Given the description of an element on the screen output the (x, y) to click on. 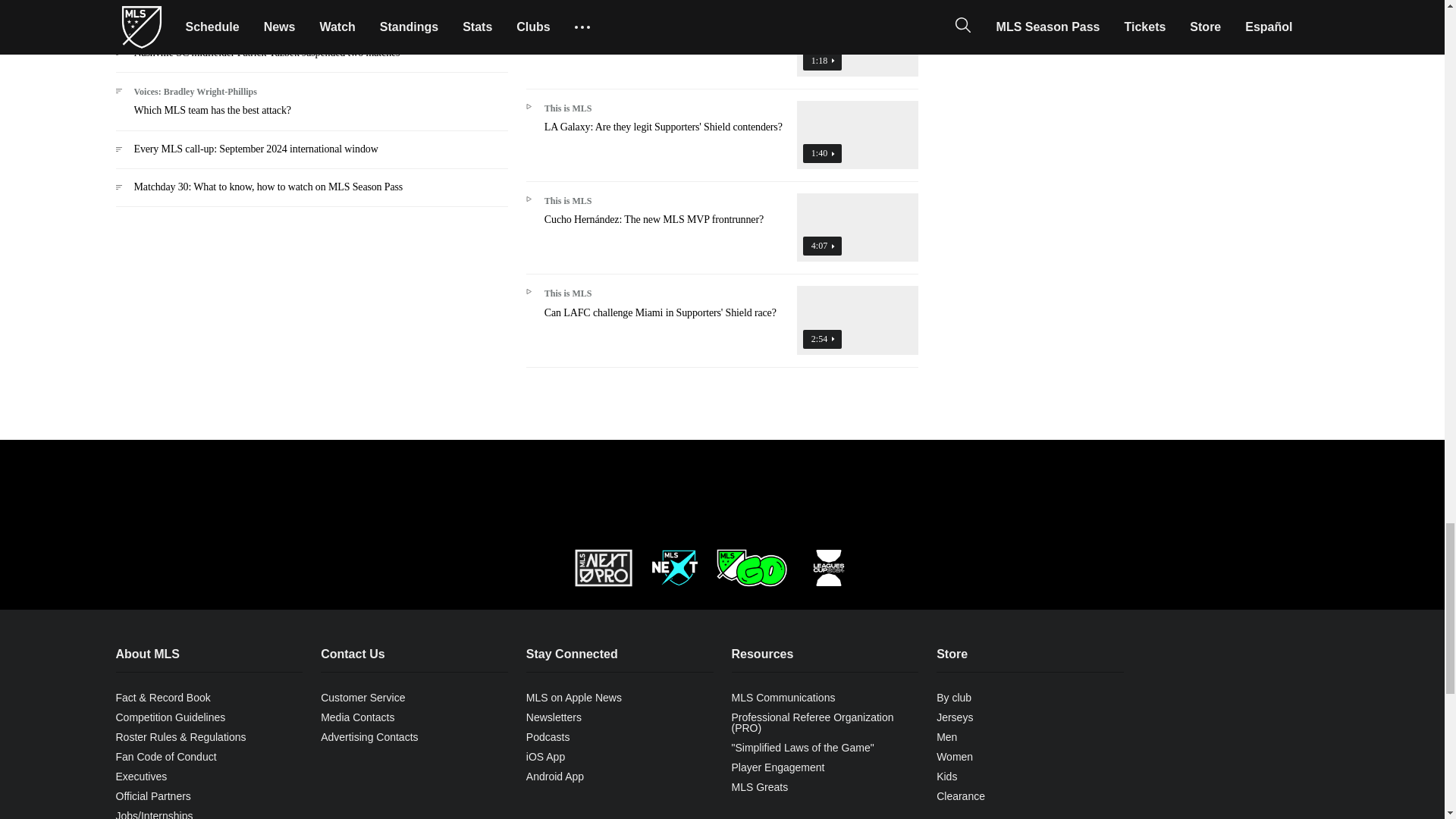
Nashville SC midfielder Patrick Yazbek suspended two matches (310, 58)
Colorado Rapids: Did Leagues Cup boost their stock? (721, 48)
Can LAFC challenge Miami in Supporters' Shield race? (721, 325)
Which MLS team has the best attack? (310, 106)
Matchday 30: What to know, how to watch on MLS Season Pass (310, 193)
Every MLS call-up: September 2024 international window (310, 155)
LA Galaxy: Are they legit Supporters' Shield contenders? (721, 140)
